Given the description of an element on the screen output the (x, y) to click on. 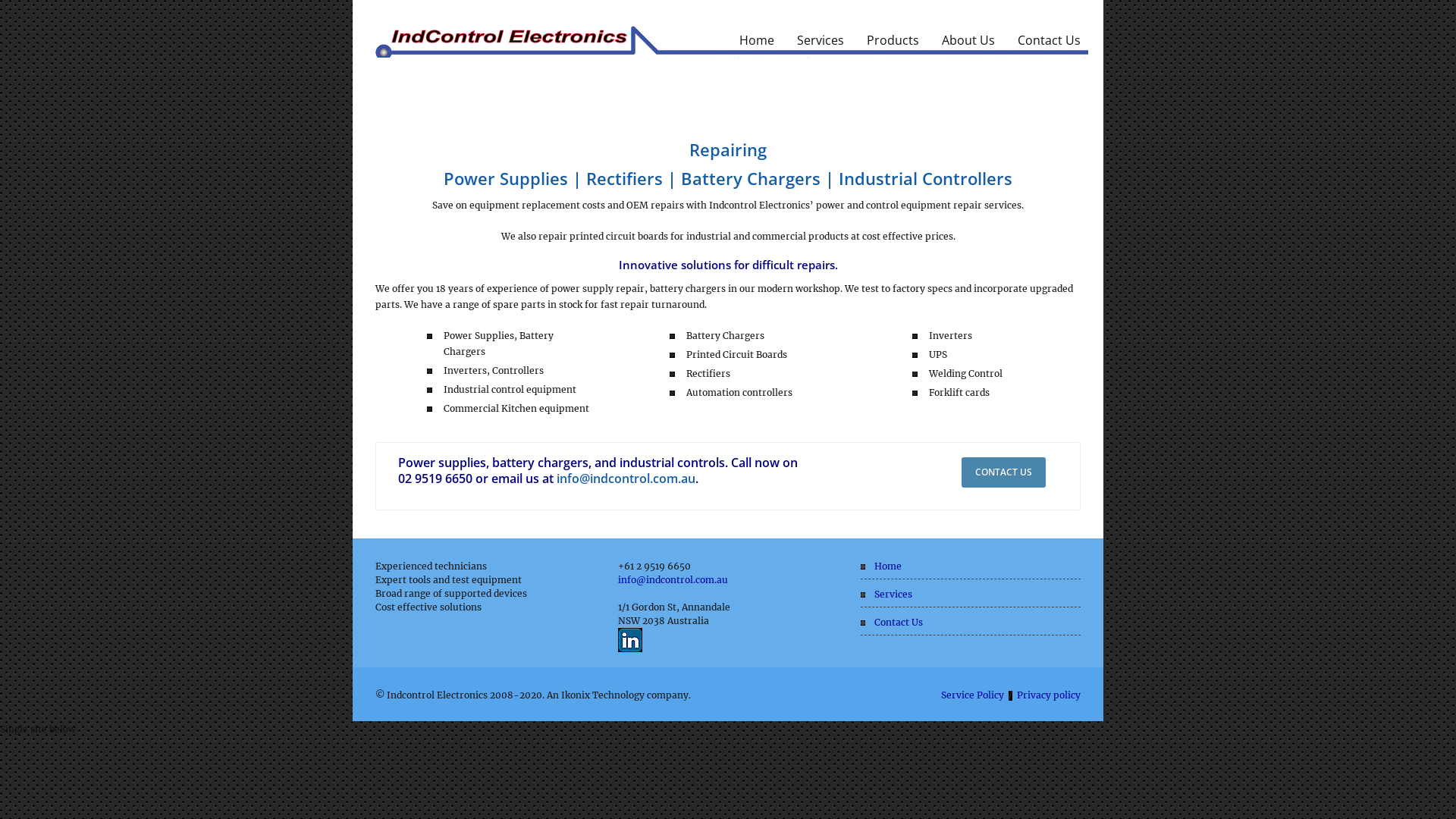
Contact Us Element type: text (898, 621)
About Us Element type: text (967, 44)
Services Element type: text (893, 593)
Contact Us Element type: text (1048, 44)
Privacy policy Element type: text (1048, 695)
Home Element type: text (887, 565)
Home Element type: text (756, 44)
info@indcontrol.com.au Element type: text (673, 579)
Power supply and battery charger repair Element type: text (731, 40)
info@indcontrol.com.au Element type: text (625, 478)
Service Policy Element type: text (972, 695)
Services Element type: text (820, 44)
Products Element type: text (892, 44)
CONTACT US Element type: text (1003, 472)
